Given the description of an element on the screen output the (x, y) to click on. 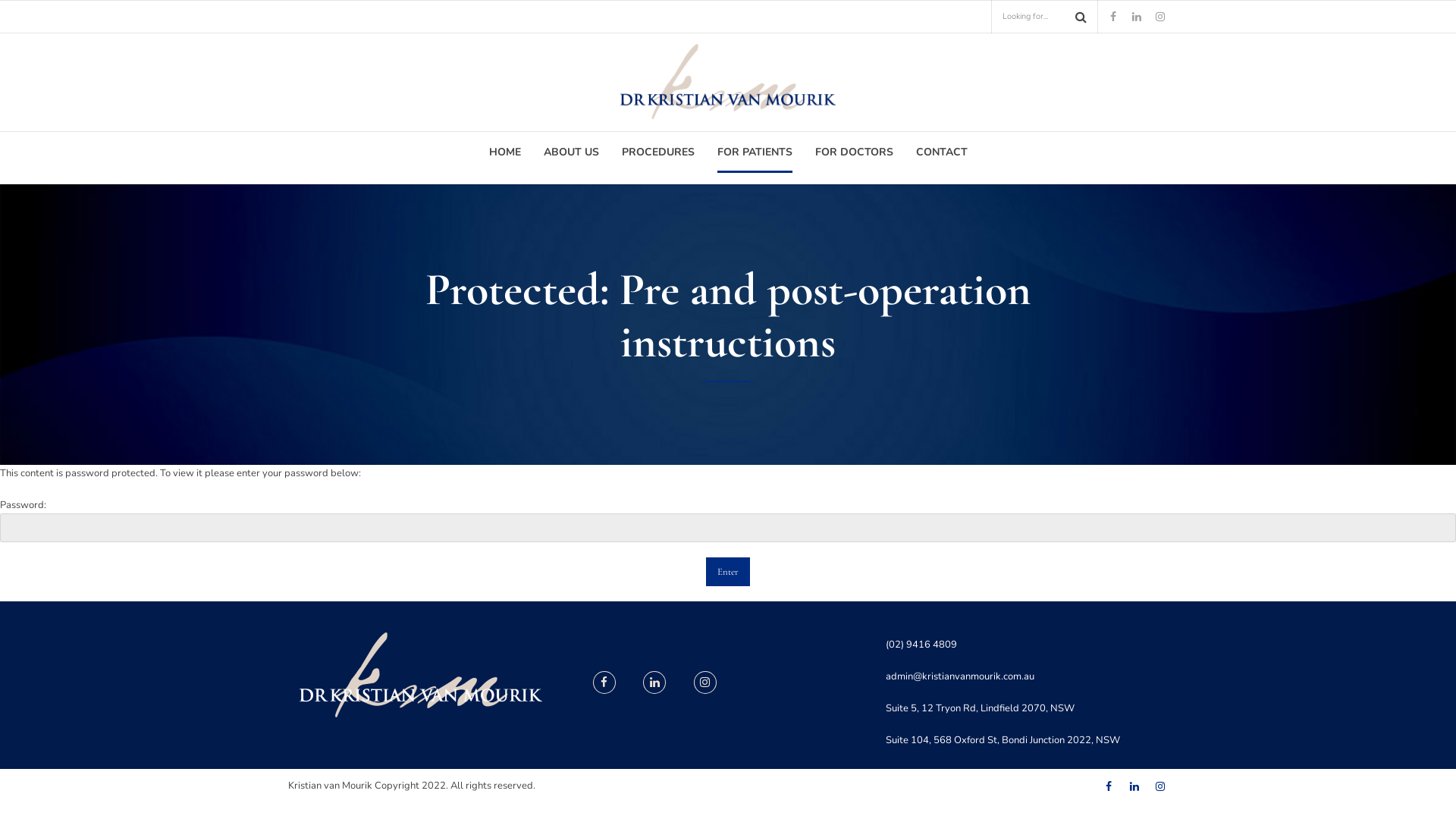
HOME Element type: text (504, 151)
FOR PATIENTS Element type: text (754, 151)
ABOUT US Element type: text (570, 151)
CONTACT Element type: text (941, 151)
FOR DOCTORS Element type: text (853, 151)
Enter Element type: text (727, 571)
PROCEDURES Element type: text (657, 151)
